Given the description of an element on the screen output the (x, y) to click on. 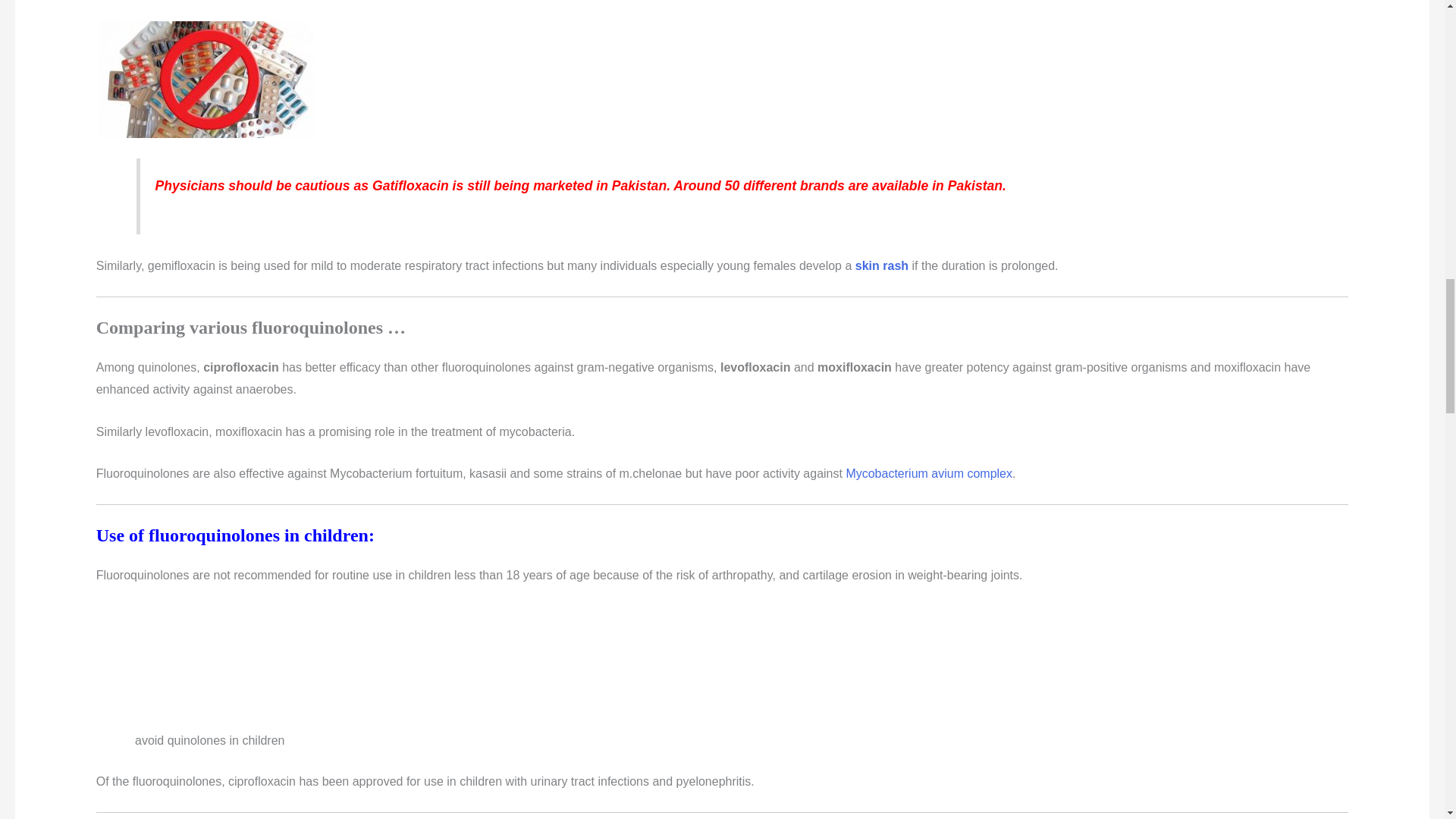
skin rash (882, 265)
Mycobacterium avium complex (927, 472)
